Given the description of an element on the screen output the (x, y) to click on. 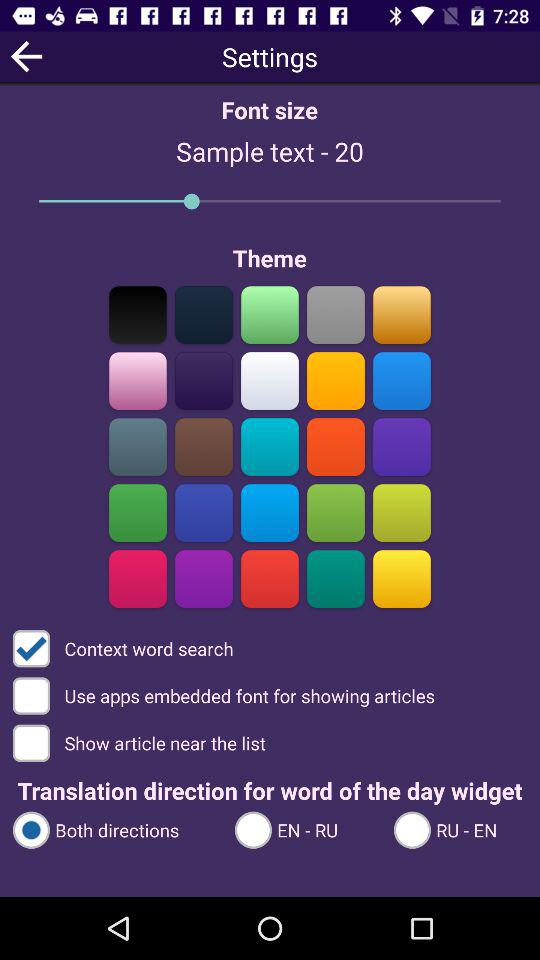
click gray (335, 314)
